Given the description of an element on the screen output the (x, y) to click on. 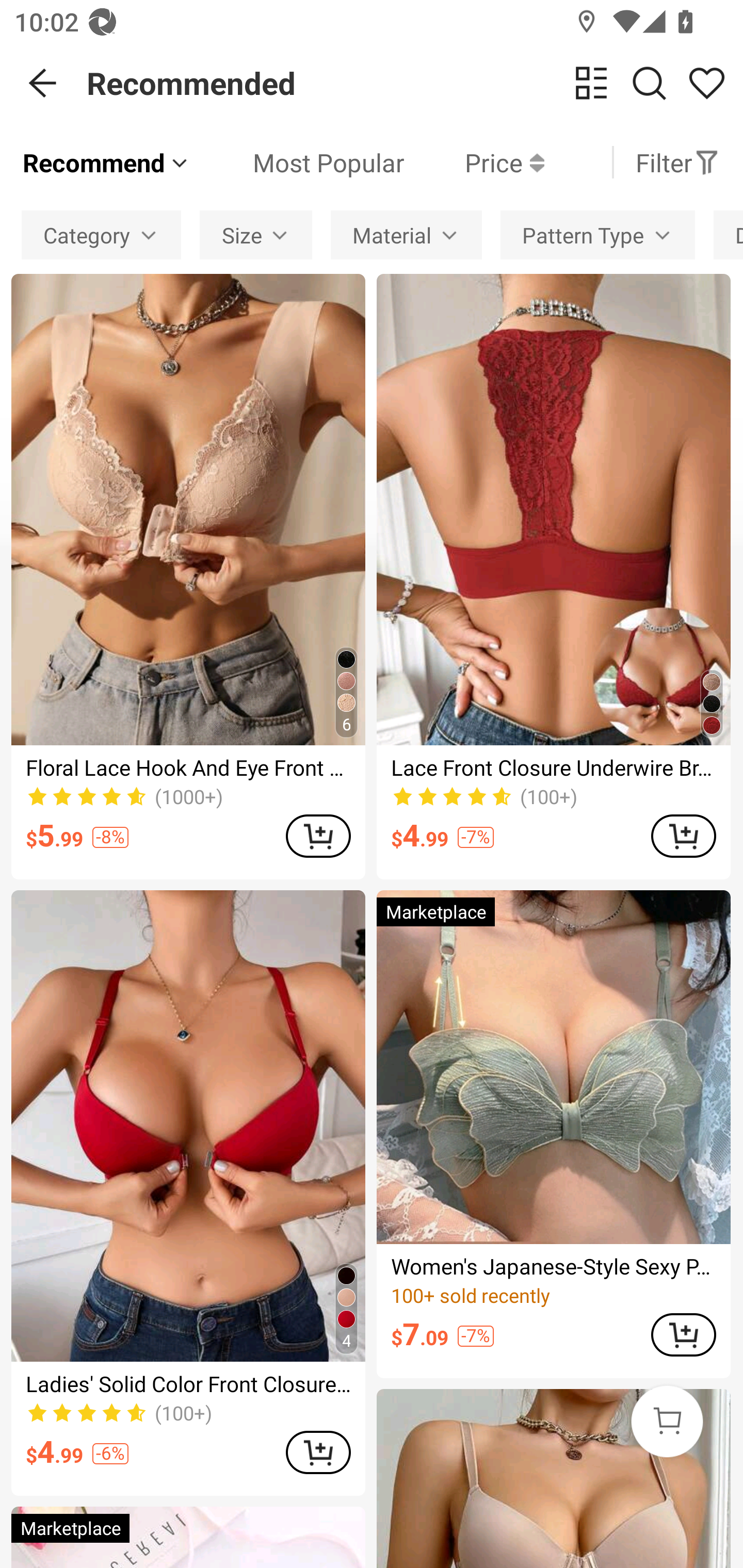
Recommended change view Search Share (414, 82)
change view (591, 82)
Search (648, 82)
Share (706, 82)
Recommend (106, 162)
Most Popular (297, 162)
Price (474, 162)
Filter (677, 162)
Category (101, 234)
Size (255, 234)
Material (406, 234)
Pattern Type (597, 234)
ADD TO CART (318, 835)
ADD TO CART (683, 835)
ADD TO CART (683, 1334)
ADD TO CART (318, 1451)
